Given the description of an element on the screen output the (x, y) to click on. 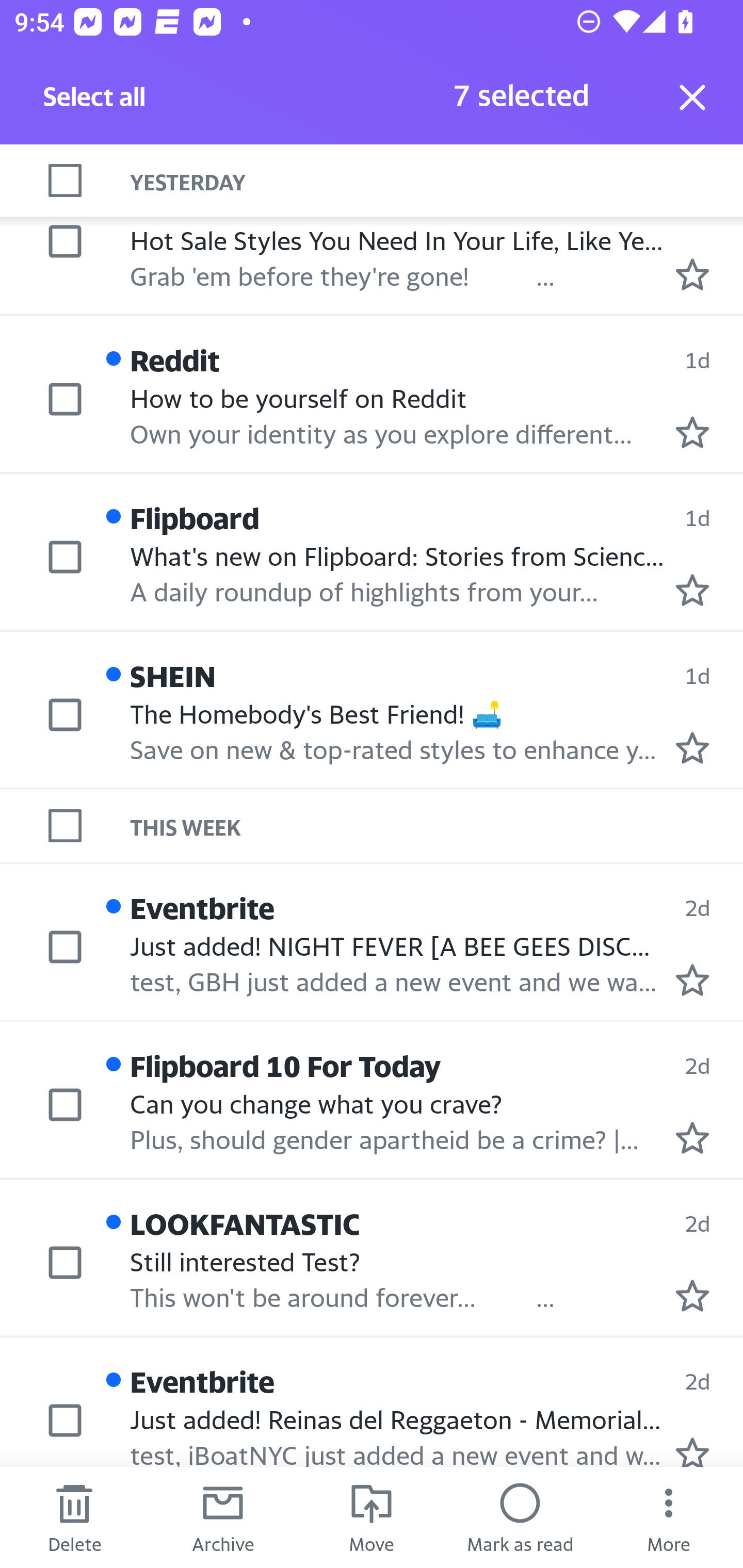
Exit selection mode (692, 97)
Select all (94, 101)
Mark as starred. (692, 274)
Mark as starred. (692, 431)
Mark as starred. (692, 590)
Mark as starred. (692, 747)
THIS WEEK (436, 825)
Mark as starred. (692, 979)
Mark as starred. (692, 1137)
Mark as starred. (692, 1295)
Mark as starred. (692, 1450)
Delete (74, 1517)
Archive (222, 1517)
Move (371, 1517)
Mark as read (519, 1517)
More (668, 1517)
